Given the description of an element on the screen output the (x, y) to click on. 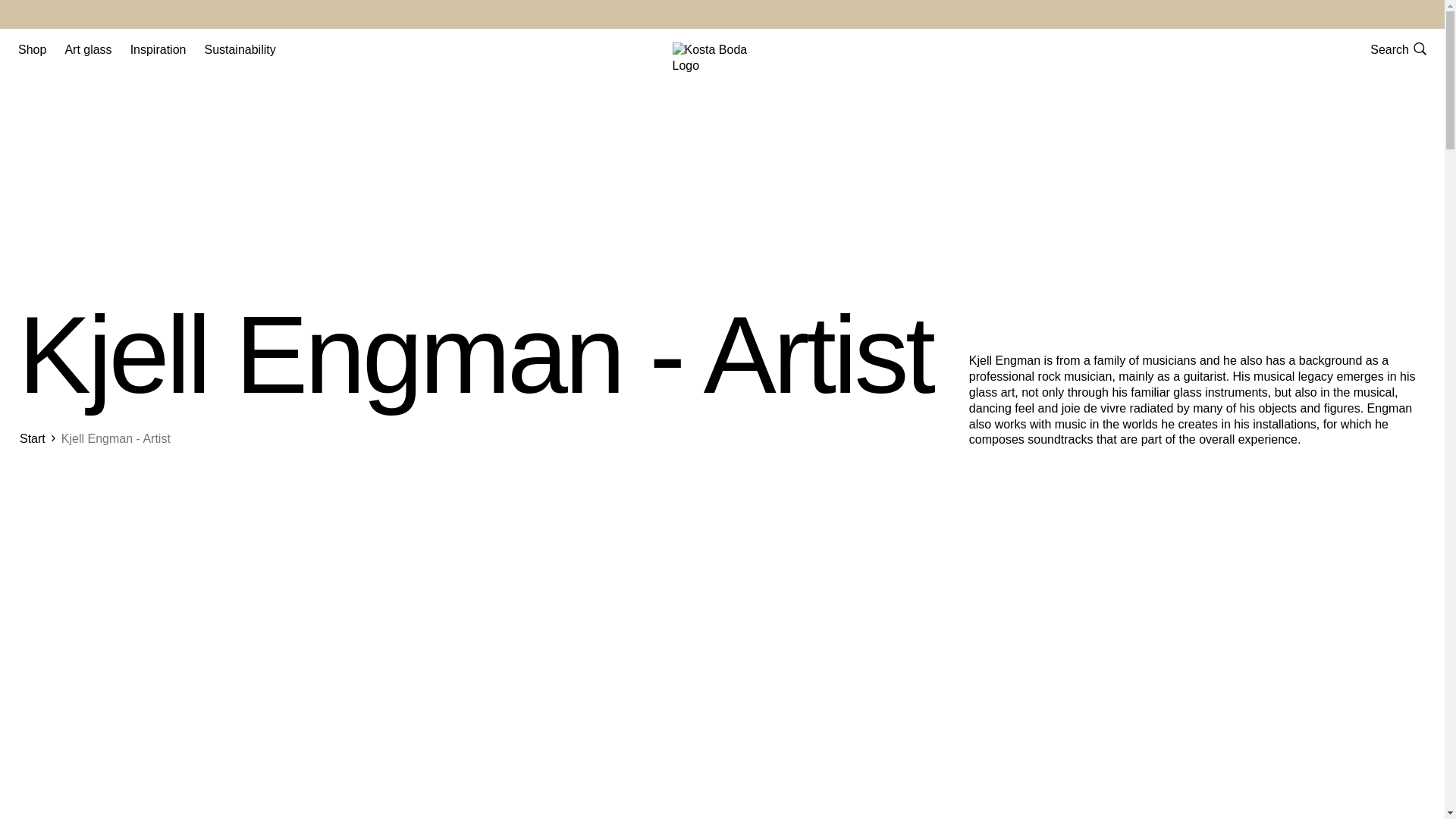
Sustainability (239, 49)
Inspiration (158, 49)
Art glass (88, 49)
Shop (31, 49)
